Given the description of an element on the screen output the (x, y) to click on. 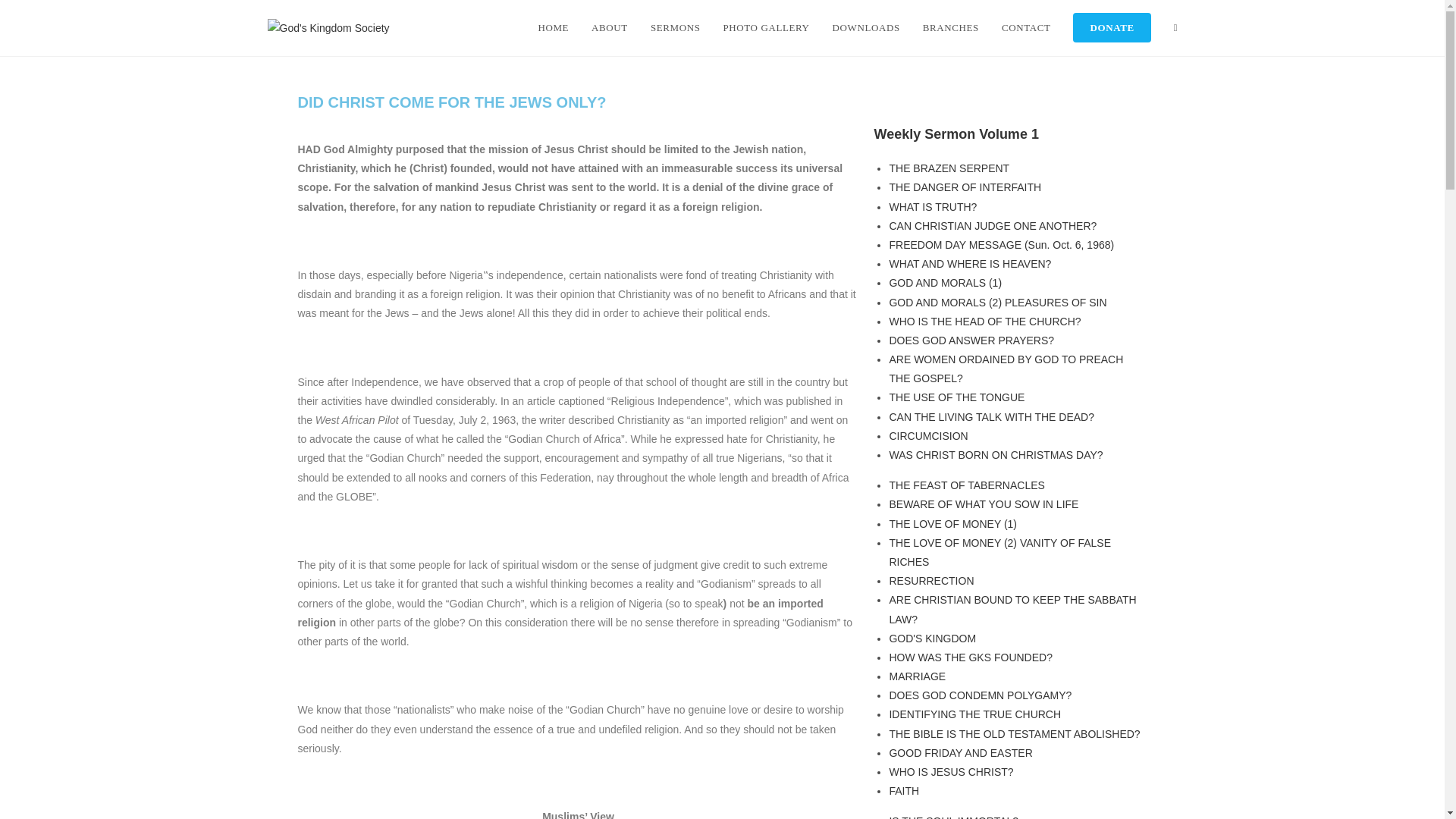
CONTACT (1026, 28)
BRANCHES (950, 28)
PHOTO GALLERY (766, 28)
HOME (552, 28)
ABOUT (609, 28)
DOWNLOADS (866, 28)
SERMONS (675, 28)
DONATE (1111, 28)
